Given the description of an element on the screen output the (x, y) to click on. 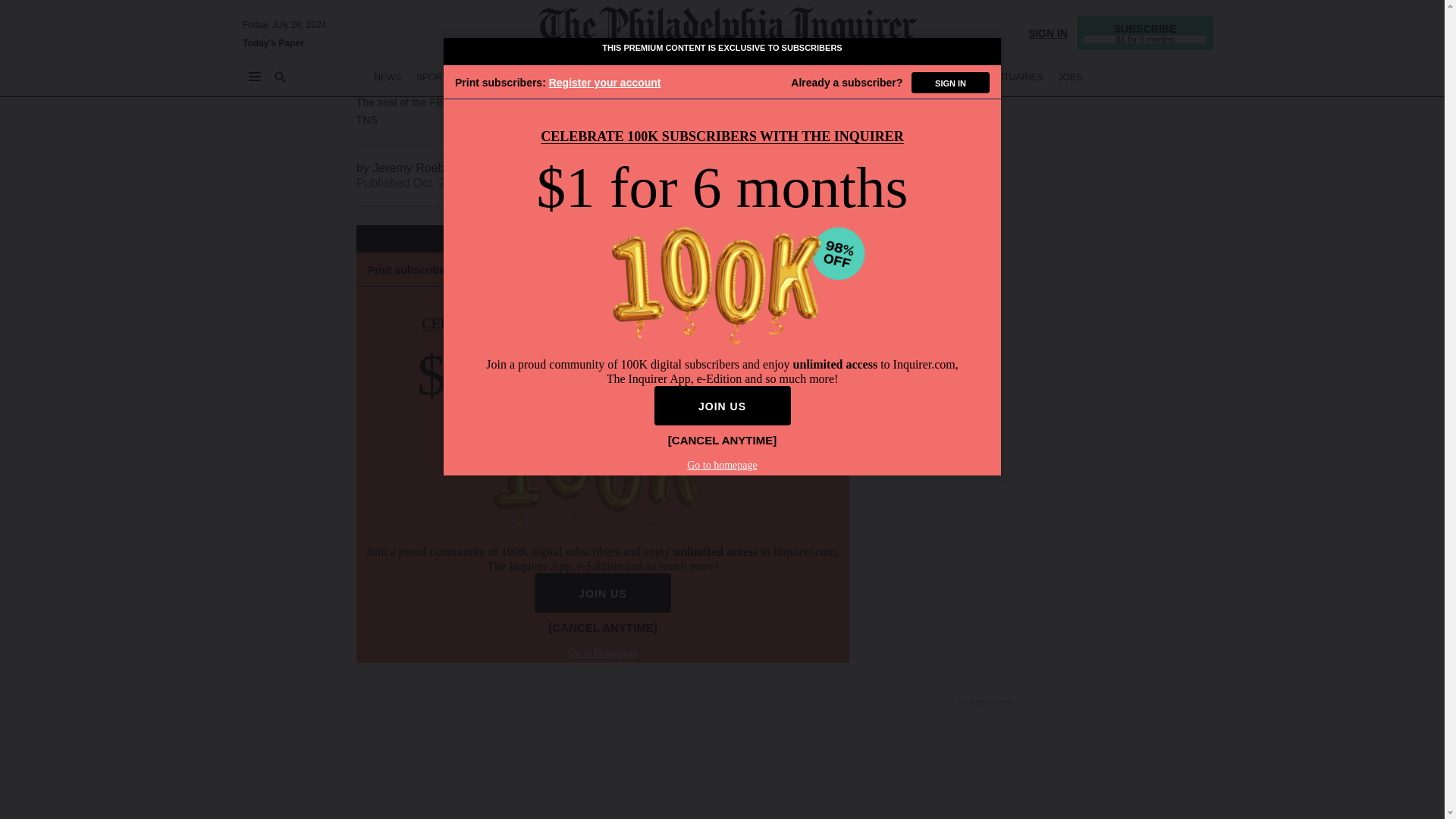
3rd party ad content (985, 113)
